Given the description of an element on the screen output the (x, y) to click on. 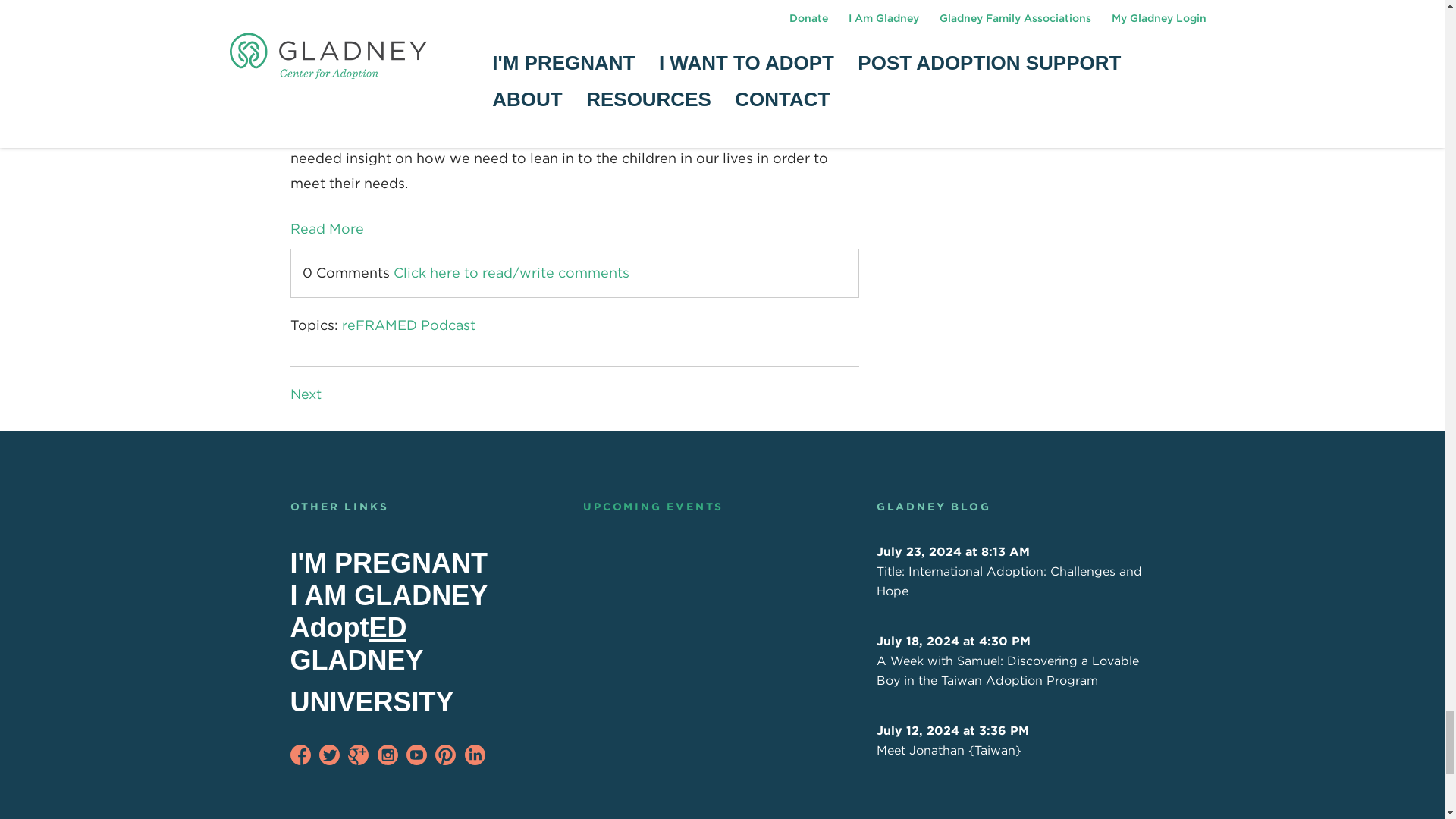
Join Us On LinkedIn (474, 754)
Like Us On Facebook (299, 754)
See Us On YouTube (416, 754)
Follow Us On Pinterest (445, 754)
Follow Us On Twitter (328, 754)
Follow Us On Instagram (387, 754)
See all events... (653, 506)
